Given the description of an element on the screen output the (x, y) to click on. 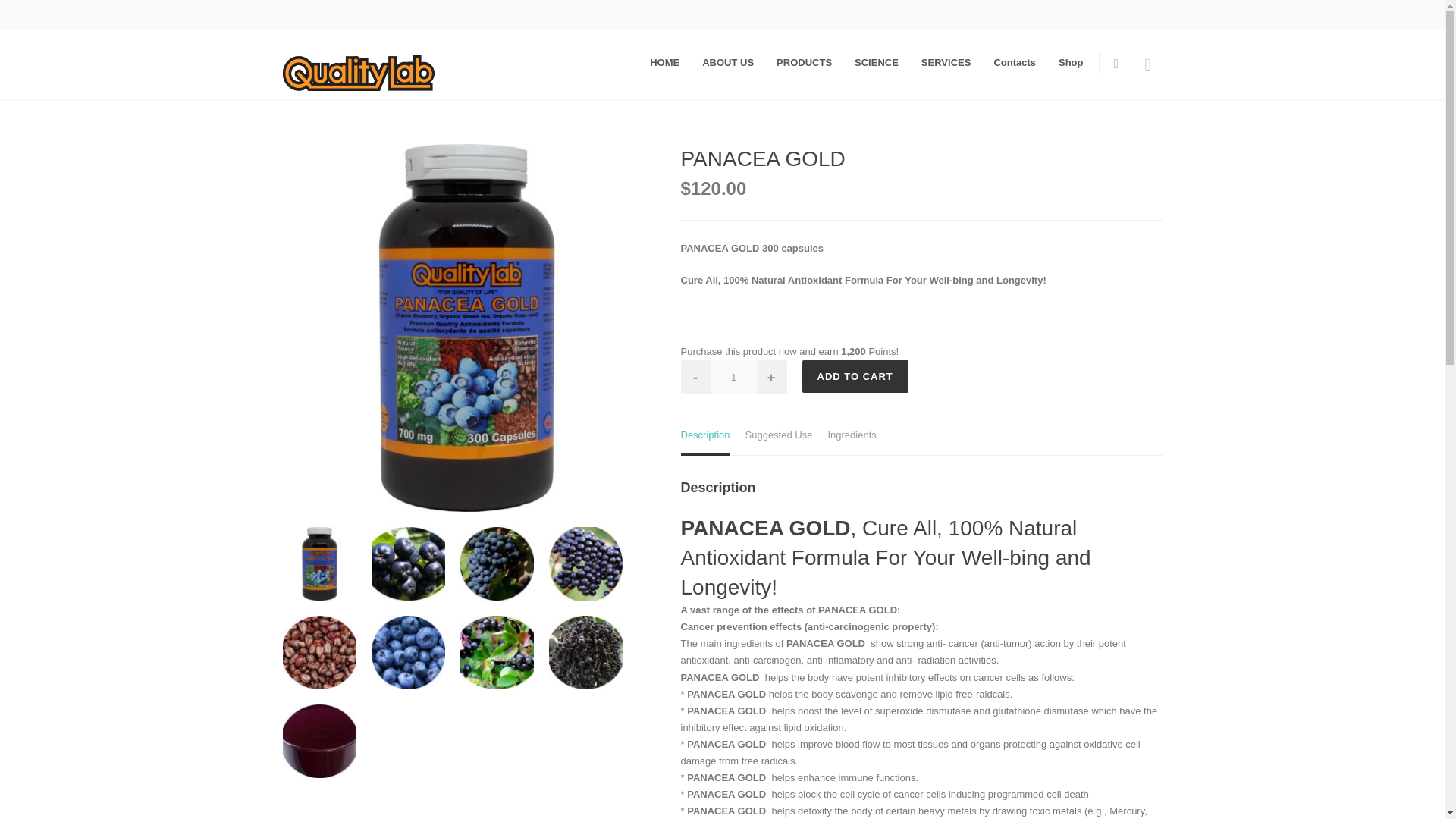
Shop (1070, 62)
pan2 (318, 563)
SCIENCE (876, 62)
gr2-copy (318, 652)
Contacts (1013, 62)
ar1-copy (408, 563)
ADD TO CART (855, 376)
ac1-copy (585, 652)
gr1-copy (496, 563)
ar2-copy (496, 652)
ma2-copy (585, 563)
ABOUT US (727, 62)
bil2-copy (408, 652)
PRODUCTS (804, 62)
